Given the description of an element on the screen output the (x, y) to click on. 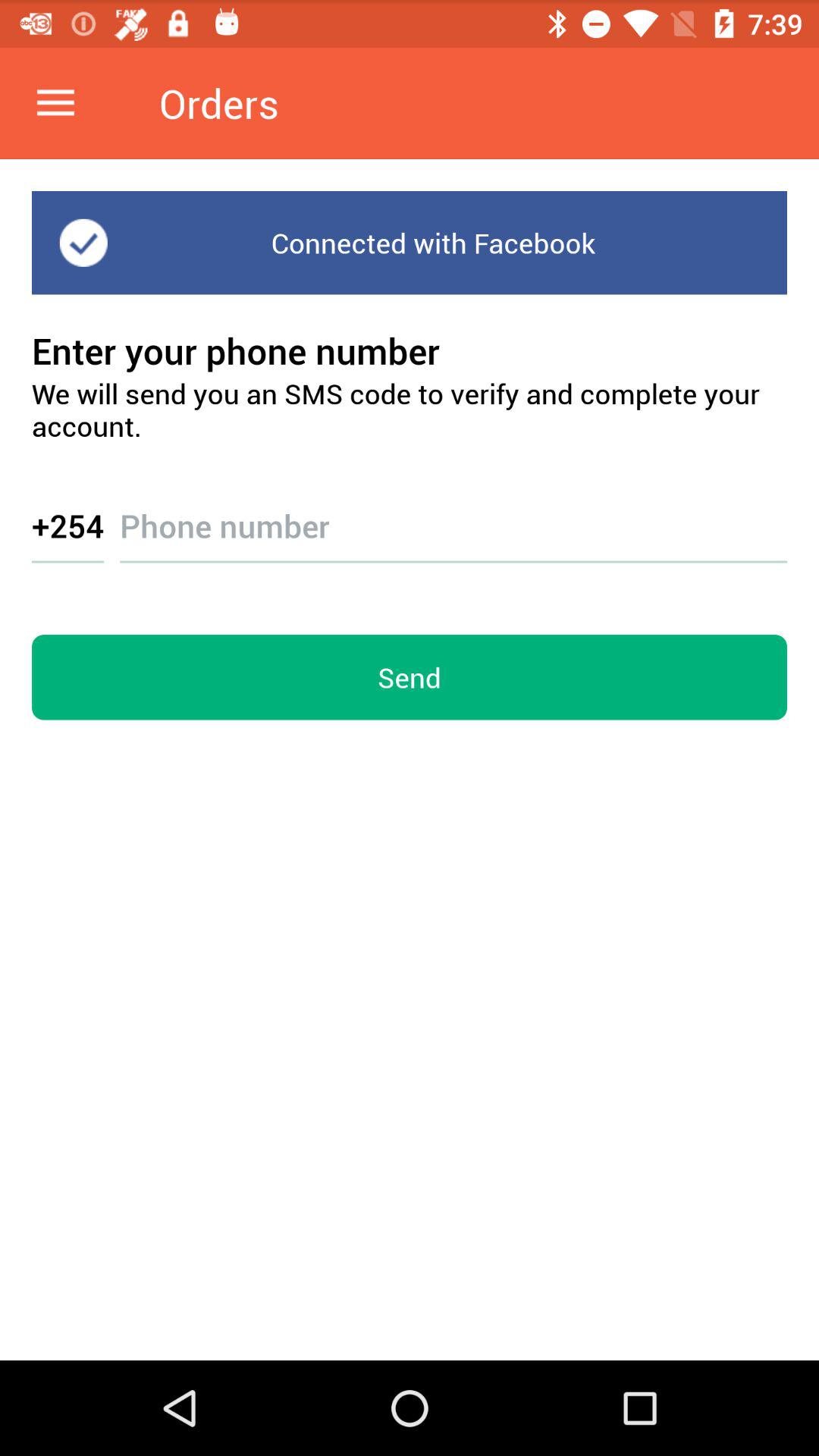
tap icon at the top left corner (55, 103)
